Given the description of an element on the screen output the (x, y) to click on. 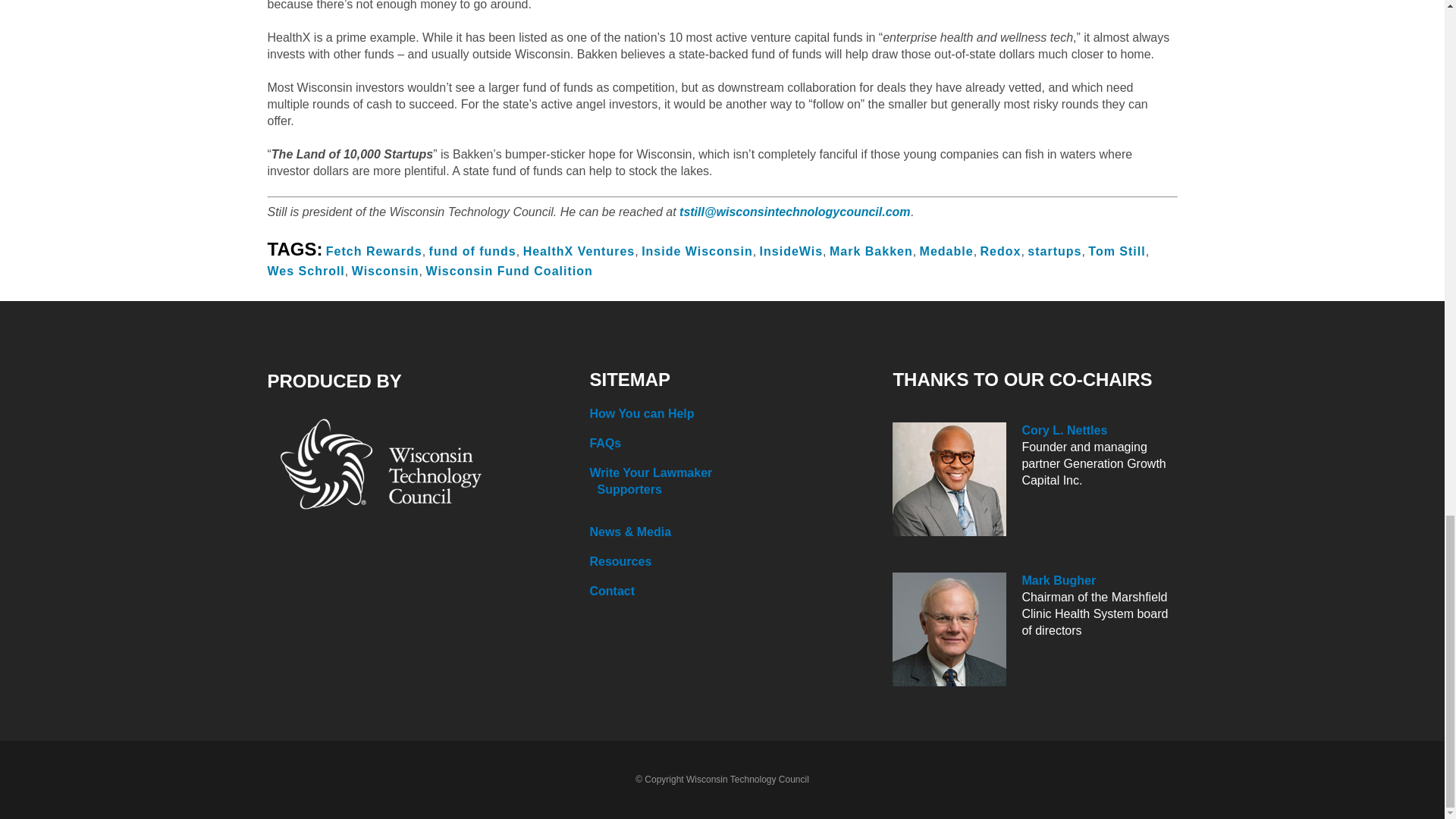
Write Your Lawmaker (729, 473)
Wisconsin Fund Coalition (508, 270)
Fetch Rewards (374, 250)
Tom Still (1115, 250)
InsideWis (792, 250)
Supporters (732, 489)
Wisconsin (385, 270)
Mark Bakken (870, 250)
HealthX Ventures (578, 250)
Medable (947, 250)
Redox (1000, 250)
startups (1054, 250)
FAQs (729, 442)
fund of funds (472, 250)
How You can Help (729, 413)
